Given the description of an element on the screen output the (x, y) to click on. 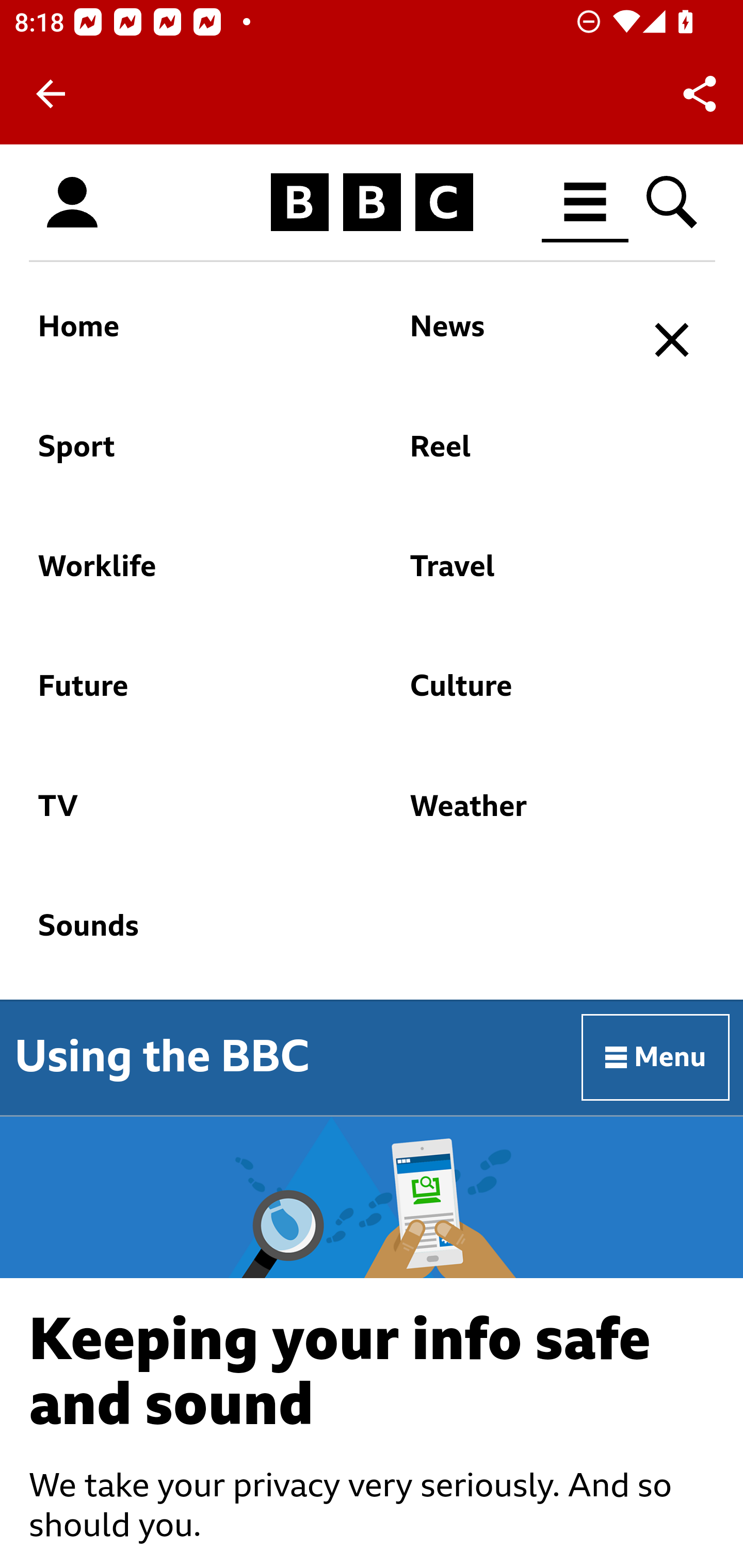
Back (50, 93)
Share (699, 93)
All BBC destinations menu (585, 202)
Search BBC (672, 202)
Sign in (71, 203)
Homepage (371, 203)
Home (178, 337)
News (515, 337)
Close menu (672, 340)
Sport (178, 456)
Reel (515, 456)
Worklife (178, 575)
Travel (515, 575)
Future (178, 696)
Culture (515, 696)
TV (178, 815)
Weather (515, 815)
Sounds (329, 935)
Menu (656, 1056)
Using the BBC (162, 1056)
